Given the description of an element on the screen output the (x, y) to click on. 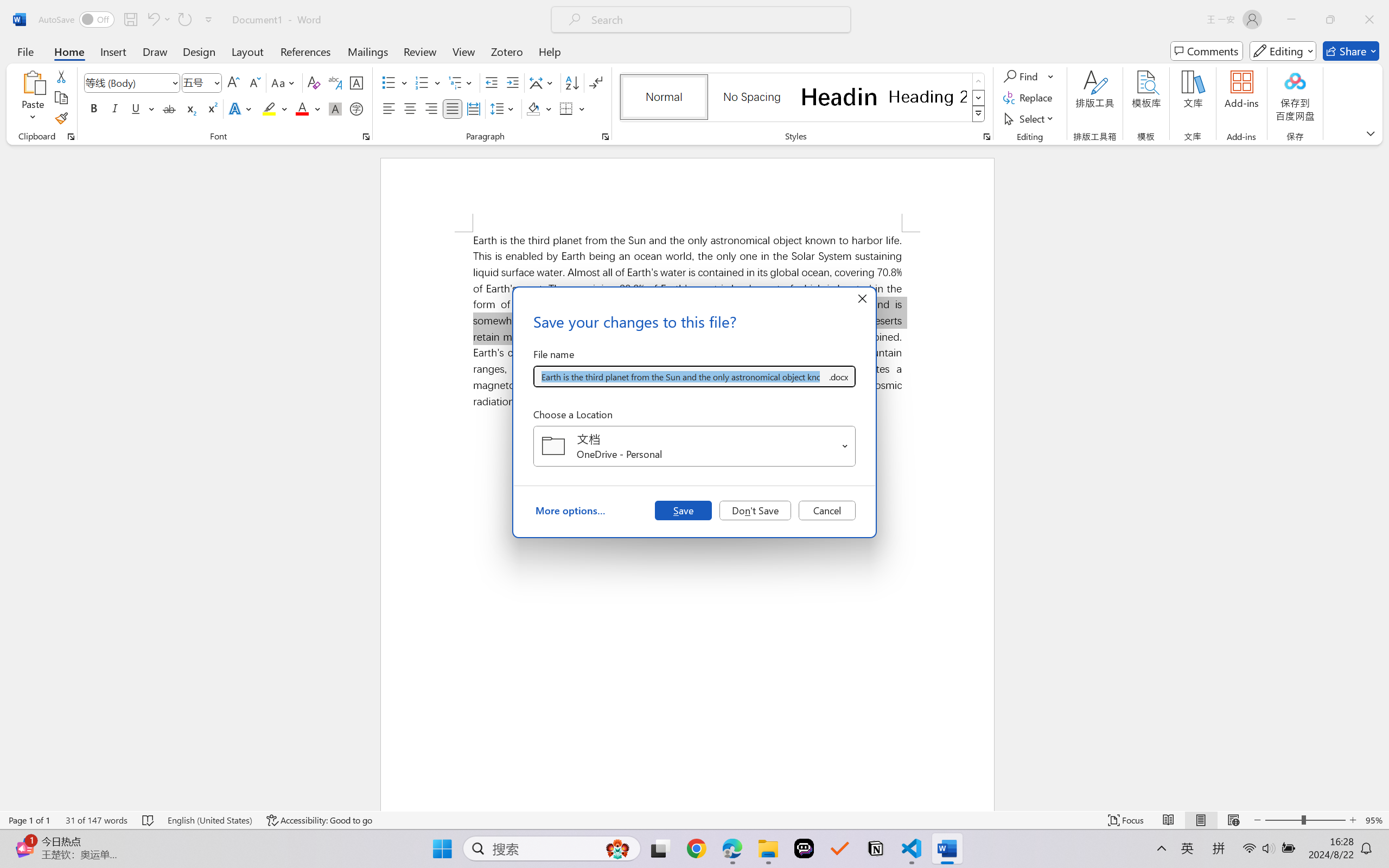
Shading RGB(0, 0, 0) (533, 108)
Align Right (431, 108)
Font Color (308, 108)
Strikethrough (169, 108)
Repeat Doc Close (184, 19)
Undo Paste Text Only (152, 19)
Cancel (826, 509)
